Given the description of an element on the screen output the (x, y) to click on. 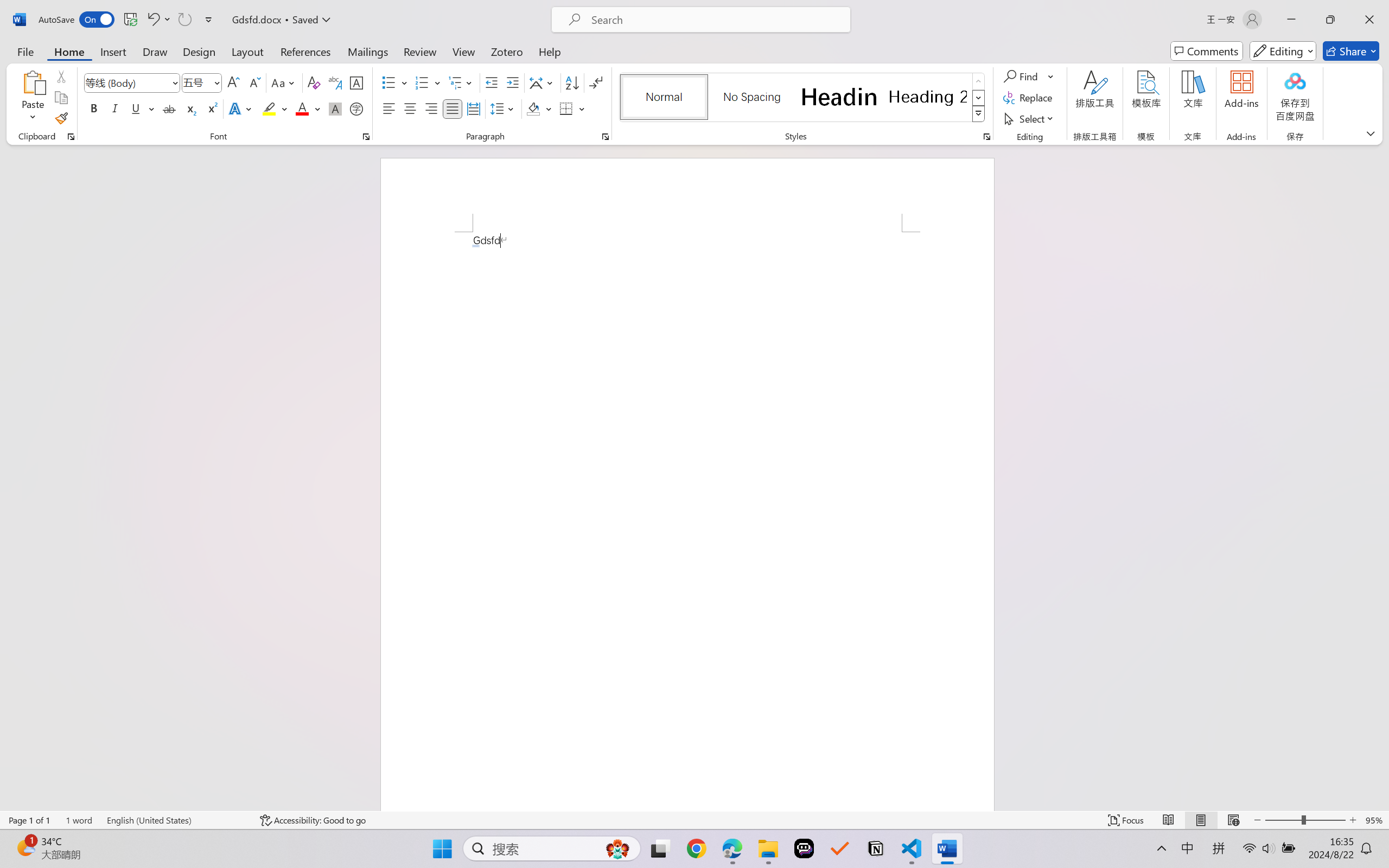
Replace... (1029, 97)
Decrease Indent (491, 82)
Grow Font (233, 82)
Copy (60, 97)
Superscript (210, 108)
Center (409, 108)
Distributed (473, 108)
